Given the description of an element on the screen output the (x, y) to click on. 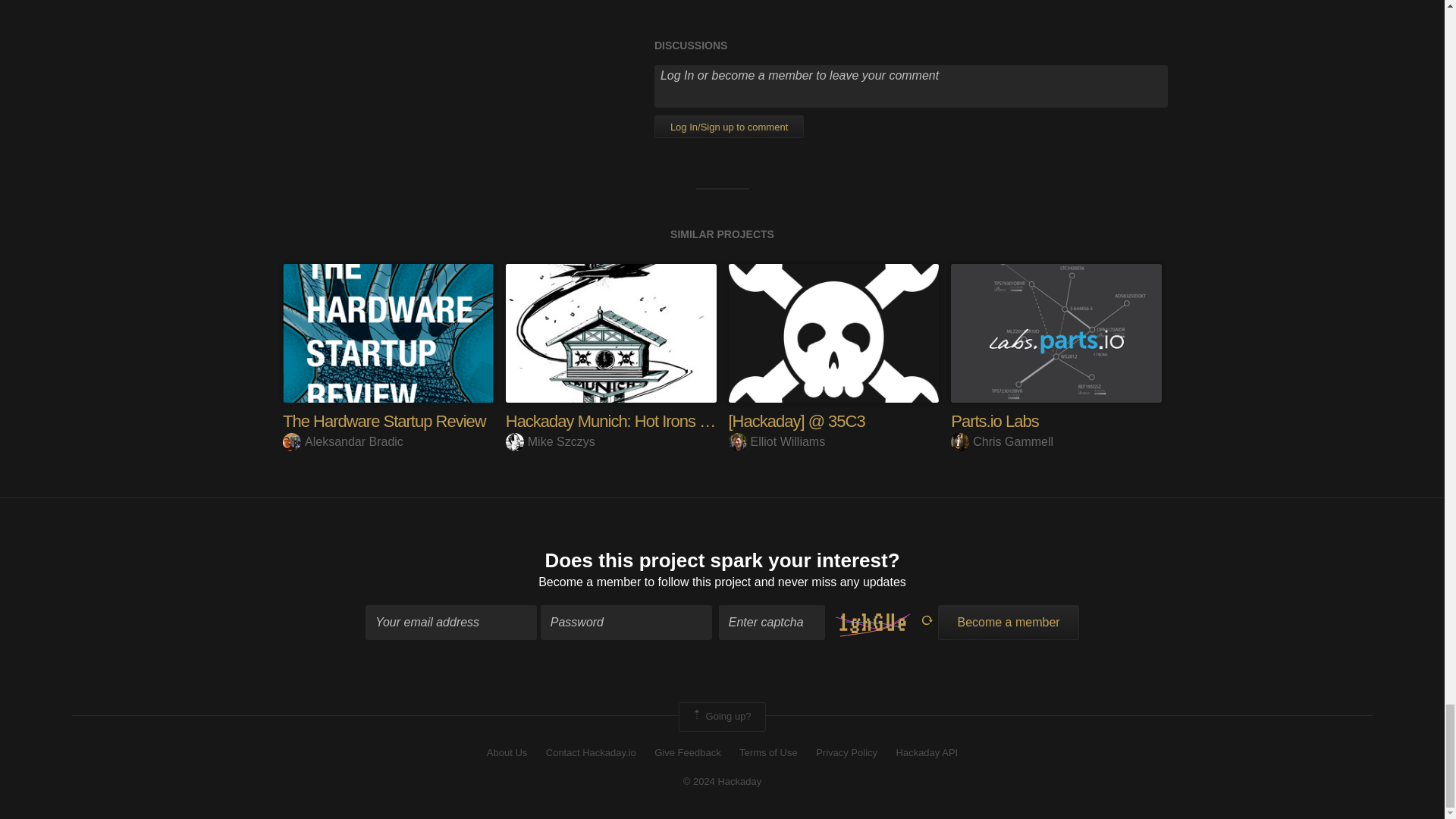
Hackaday Munich: Hot Irons and Crunching Compilers (687, 420)
The Hardware Startup Review (384, 420)
The Hardware Startup Review by Aleksandar Bradic (387, 332)
